Given the description of an element on the screen output the (x, y) to click on. 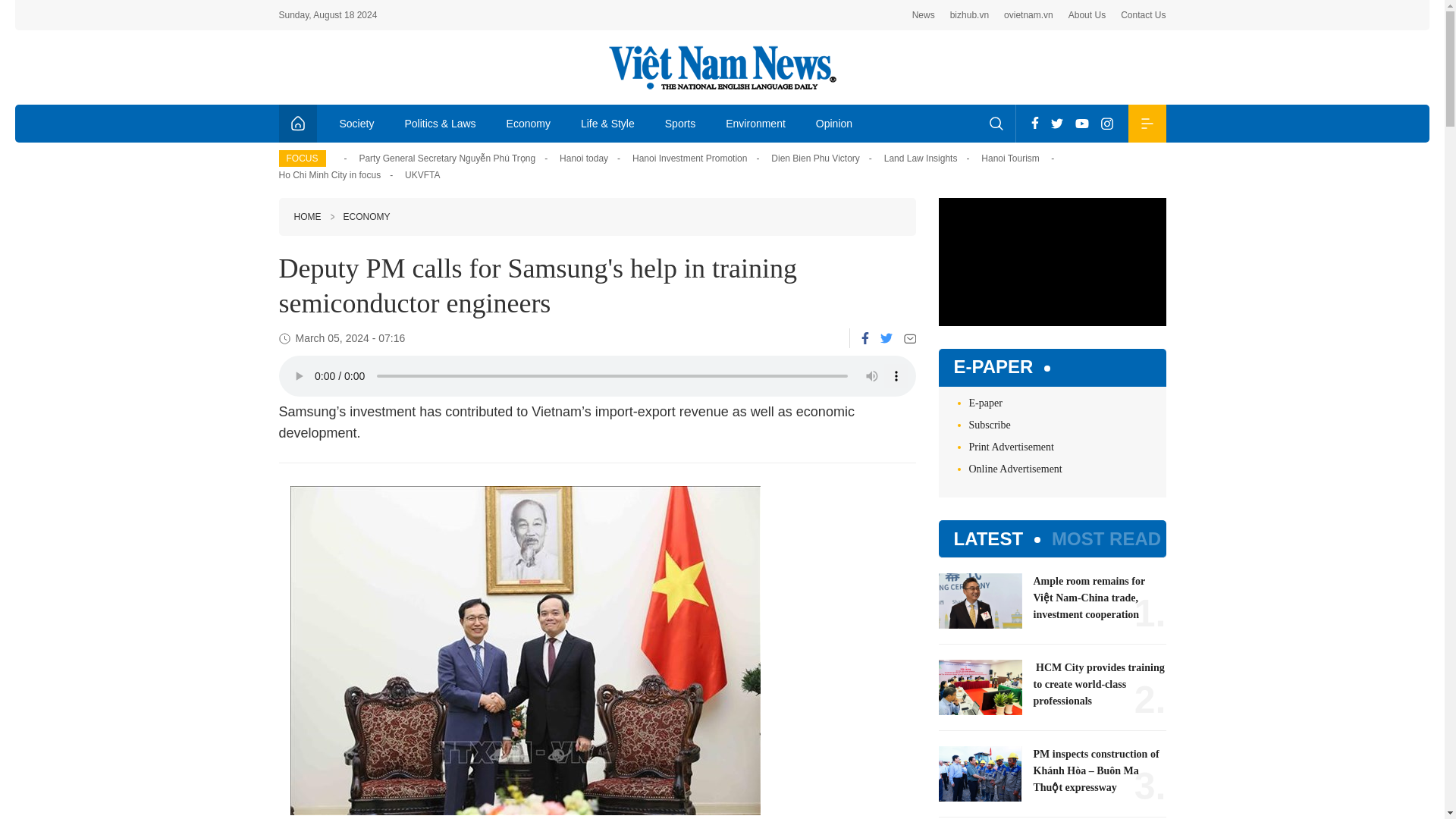
bizhub.vn (969, 15)
Sports (679, 123)
Instagram (1106, 123)
Twitter (1056, 122)
Economy (529, 123)
Youtube (1081, 122)
About Us (1086, 15)
News (923, 15)
Environment (755, 123)
Twitter (885, 337)
